Given the description of an element on the screen output the (x, y) to click on. 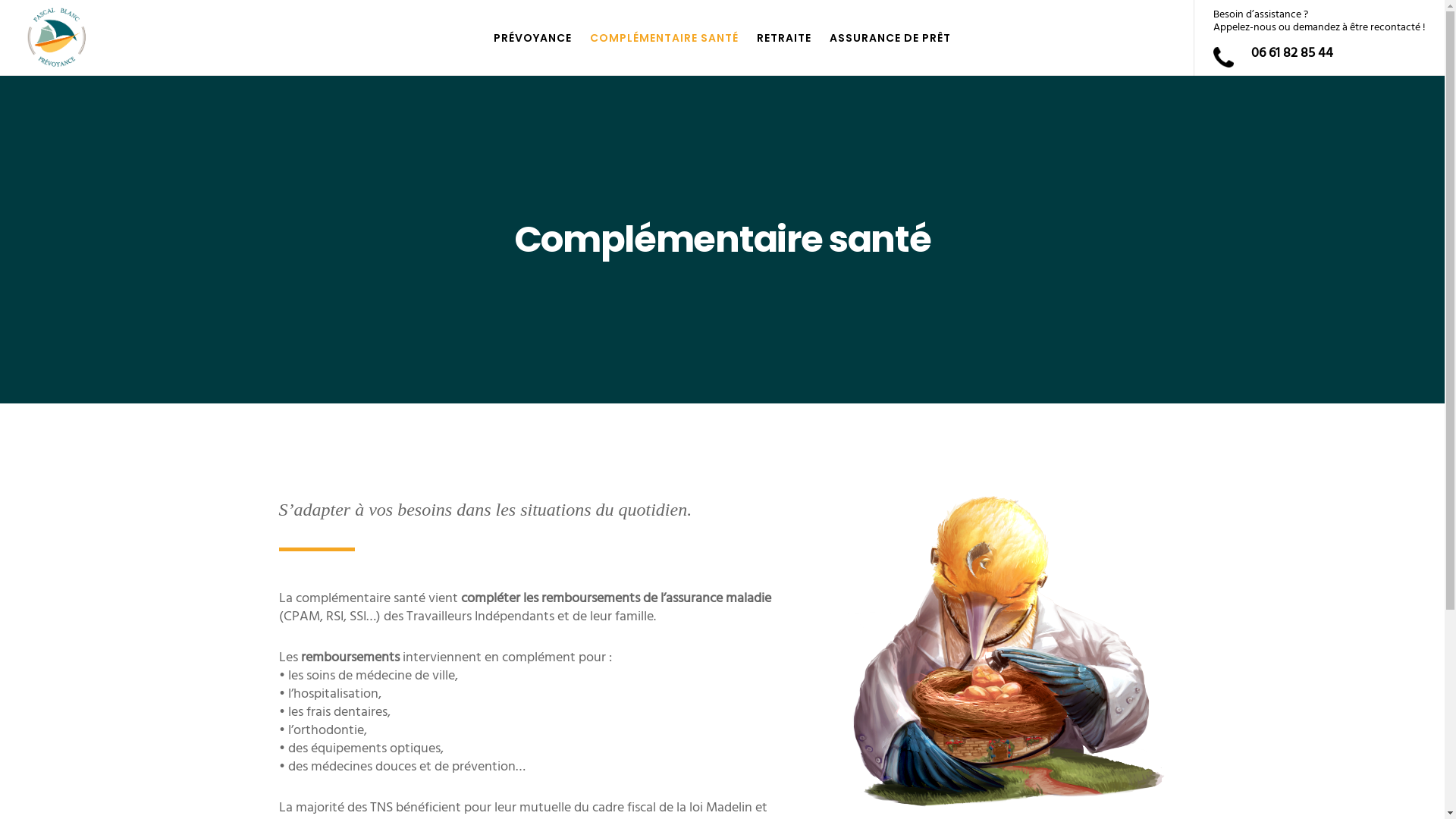
RETRAITE Element type: text (783, 37)
06 61 82 85 44 Element type: text (1292, 52)
